Given the description of an element on the screen output the (x, y) to click on. 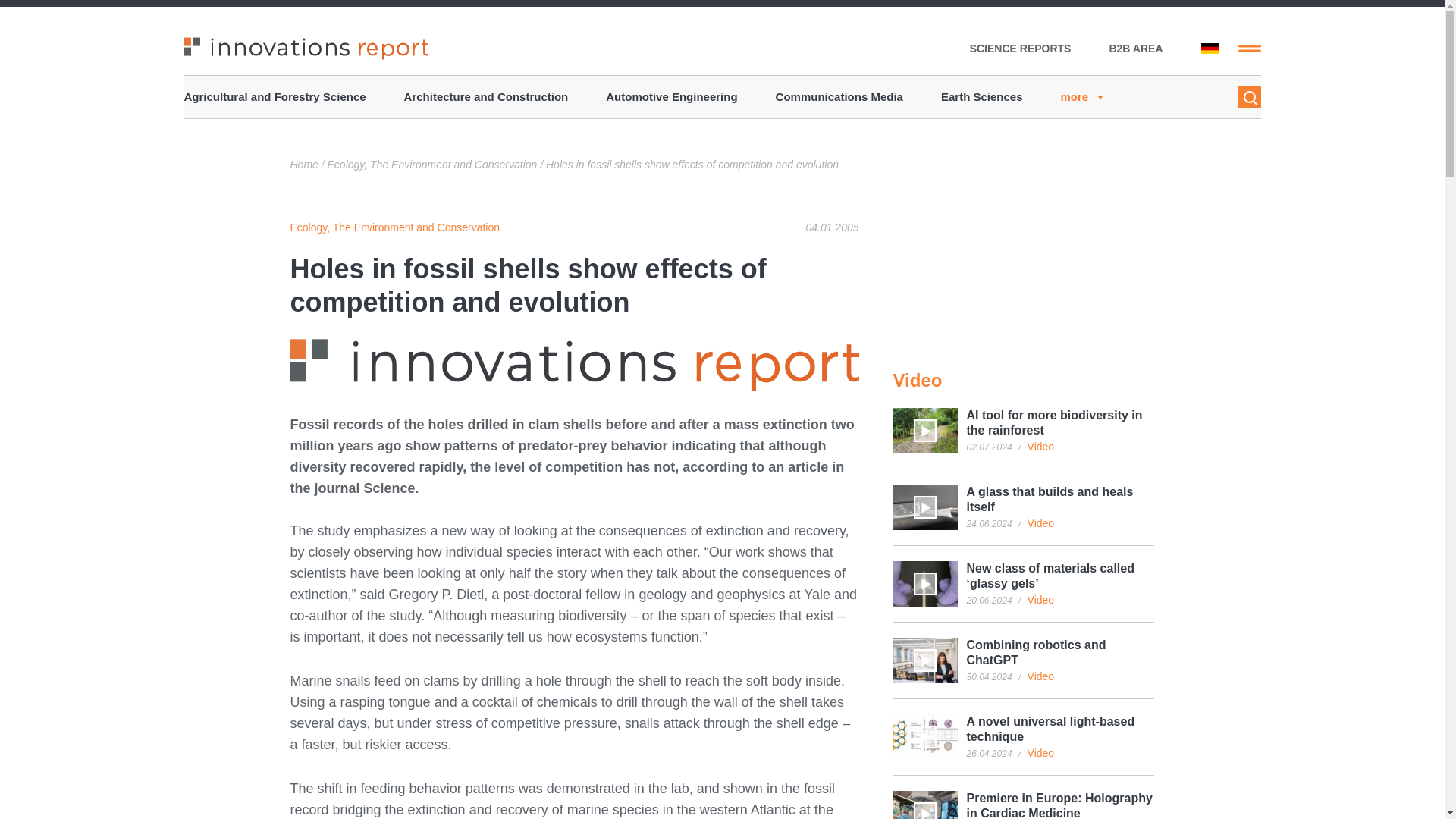
Communications Media (839, 96)
B2B AREA (1134, 48)
Automotive Engineering (670, 96)
SCIENCE REPORTS (1020, 48)
Agricultural and Forestry Science (274, 96)
Earth Sciences (981, 96)
Architecture and Construction (486, 96)
